Given the description of an element on the screen output the (x, y) to click on. 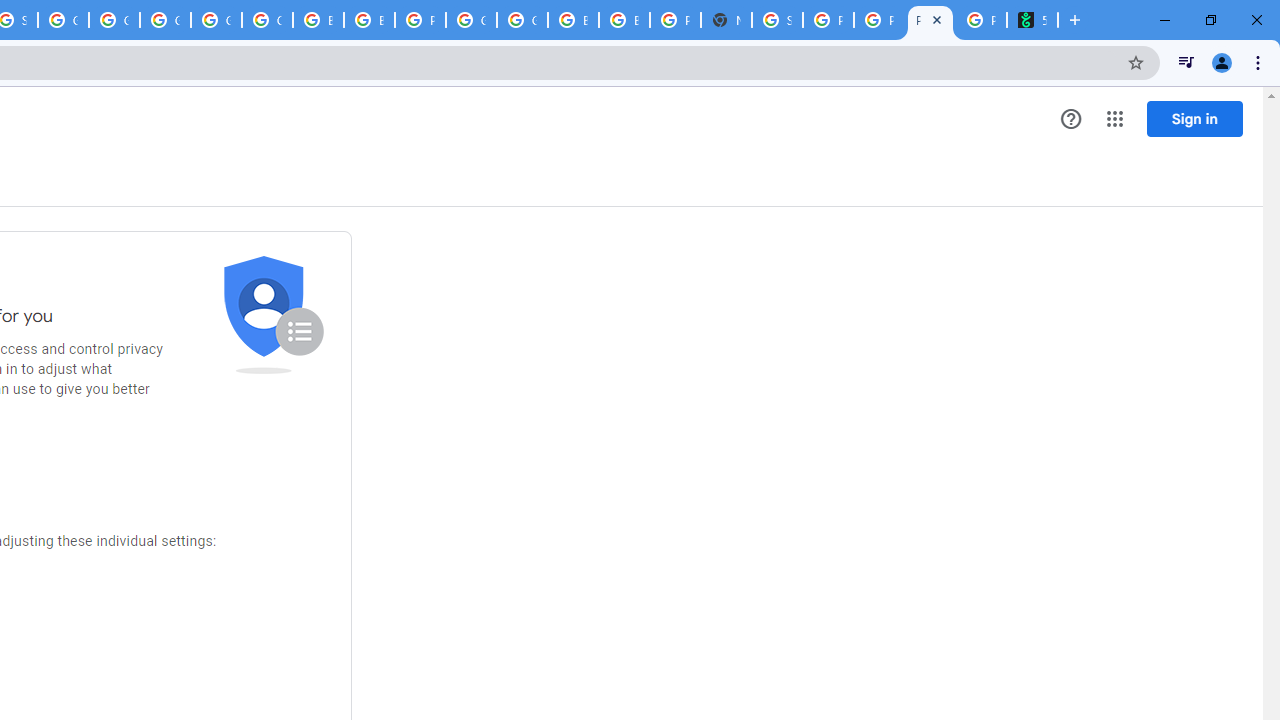
Google Cloud Platform (521, 20)
New Tab (726, 20)
Help (1071, 119)
Control your music, videos, and more (1185, 62)
Google Cloud Platform (164, 20)
